Given the description of an element on the screen output the (x, y) to click on. 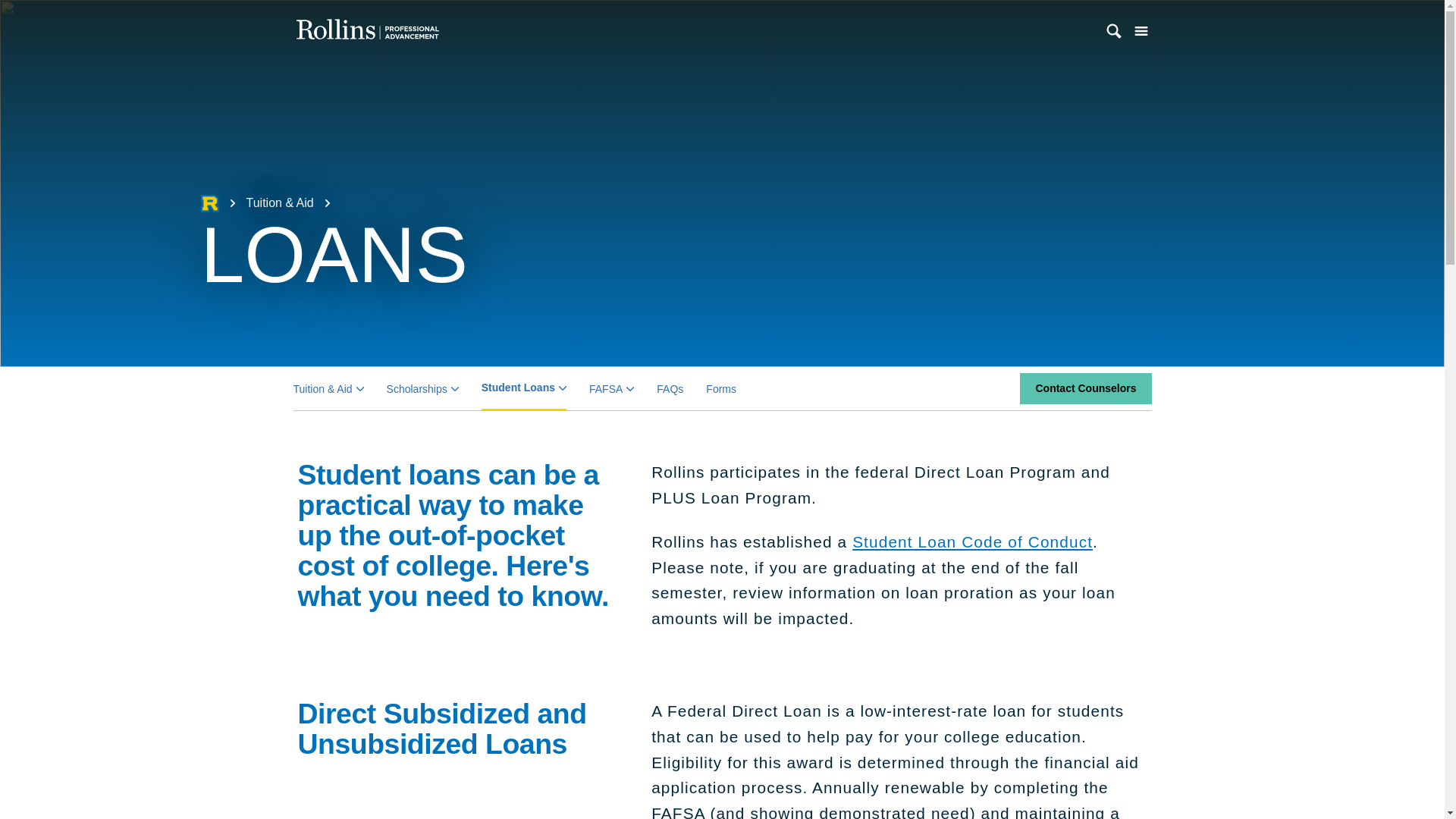
Rollins CollegeHome (209, 203)
Scholarships (422, 388)
Student Loans (523, 388)
Contact Counselors (1085, 388)
Rollins CollegeHome (209, 203)
FAFSA (611, 388)
Rollins College Home (209, 203)
Student Loan Code of Conduct (972, 541)
